Given the description of an element on the screen output the (x, y) to click on. 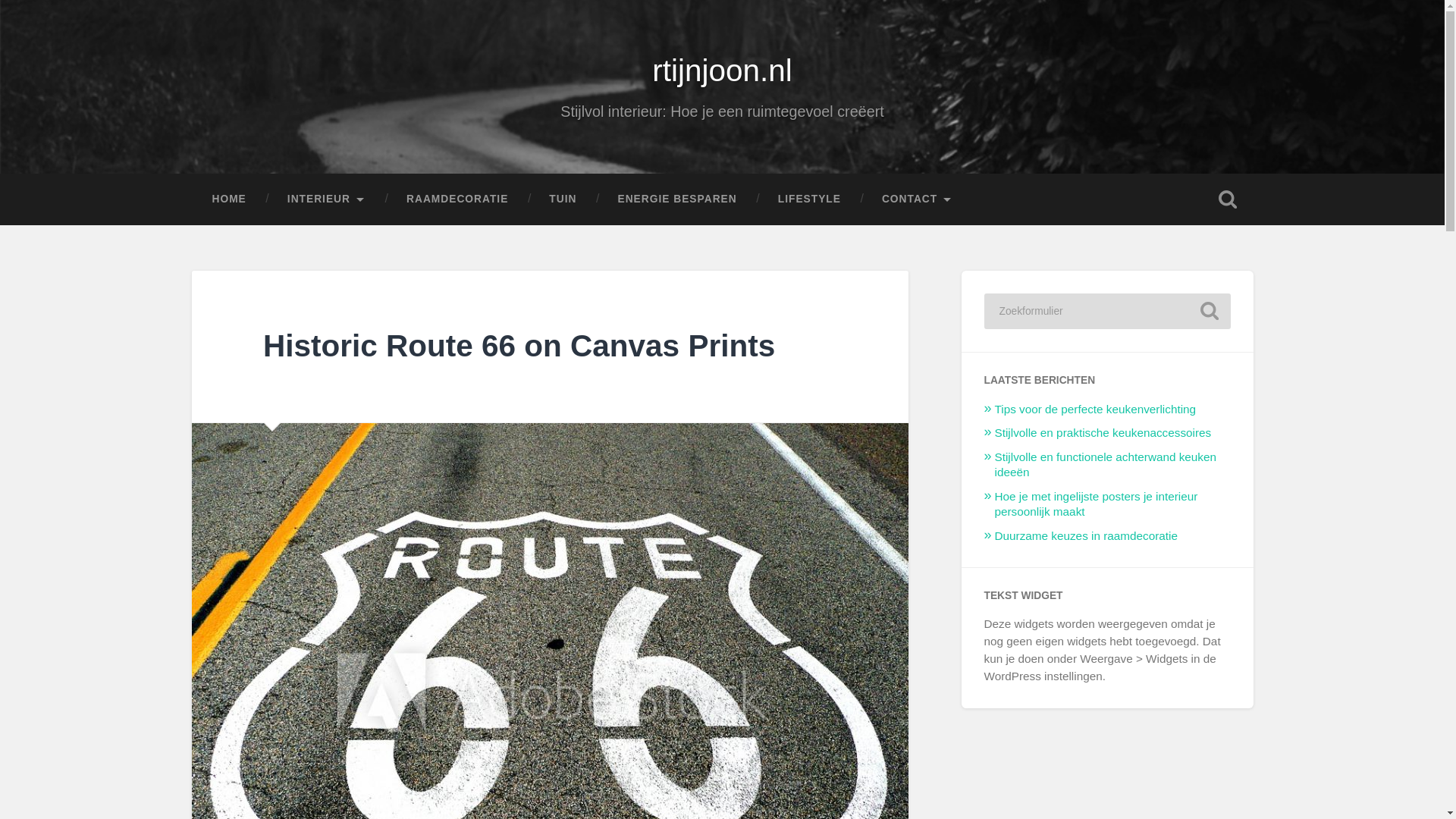
HOME (228, 199)
RAAMDECORATIE (456, 199)
rtijnjoon.nl (722, 70)
Historic Route 66 on Canvas Prints (518, 345)
ENERGIE BESPAREN (676, 199)
Zoeken (1209, 310)
LIFESTYLE (809, 199)
Zoeken (1209, 310)
CONTACT (916, 199)
INTERIEUR (325, 199)
TUIN (562, 199)
